Given the description of an element on the screen output the (x, y) to click on. 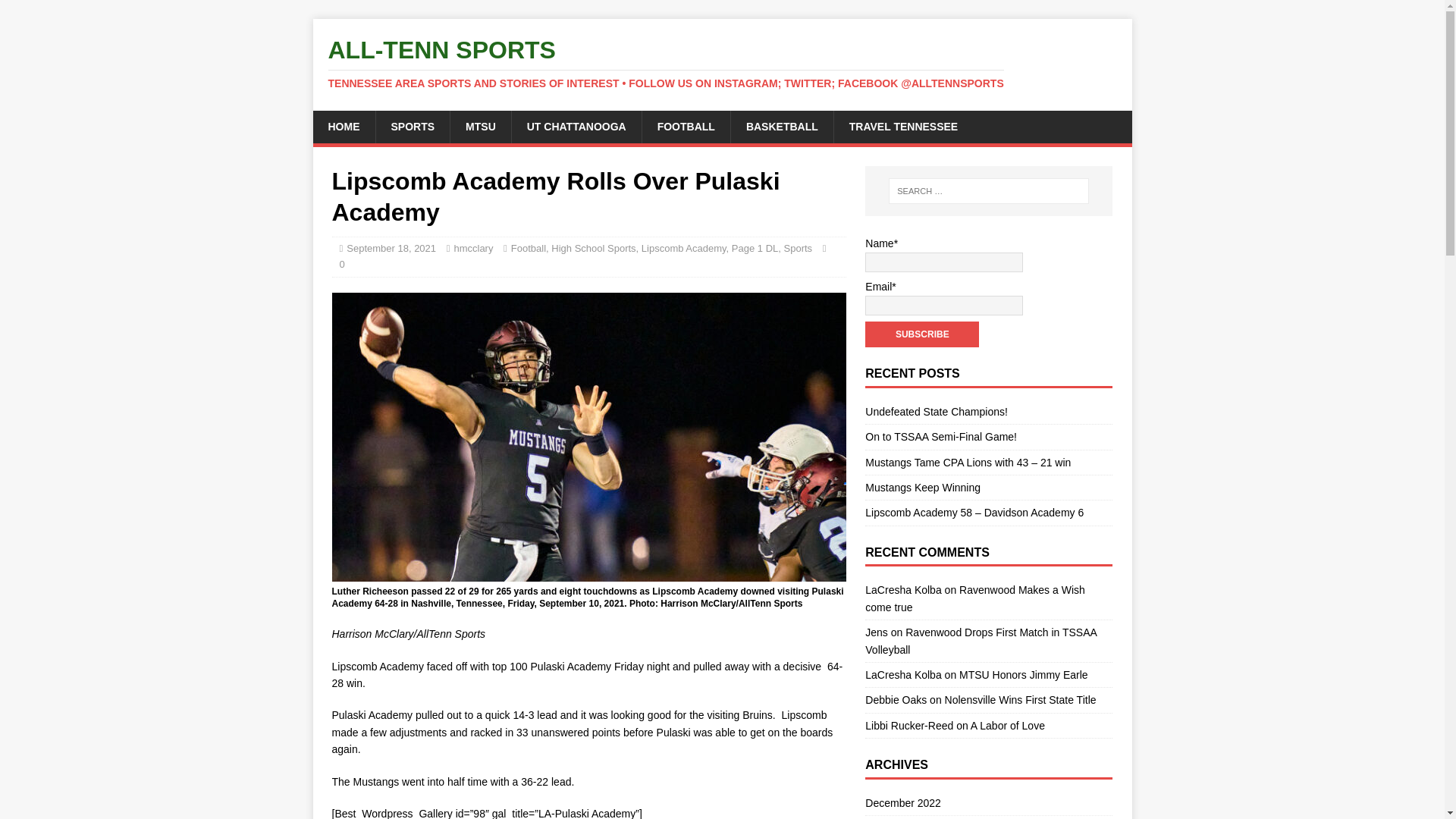
MTSU (480, 126)
Football (528, 247)
UT CHATTANOOGA (576, 126)
Subscribe (921, 334)
Lipscomb Academy (684, 247)
FOOTBALL (686, 126)
Page 1 DL (754, 247)
On to TSSAA Semi-Final Game! (940, 436)
